Given the description of an element on the screen output the (x, y) to click on. 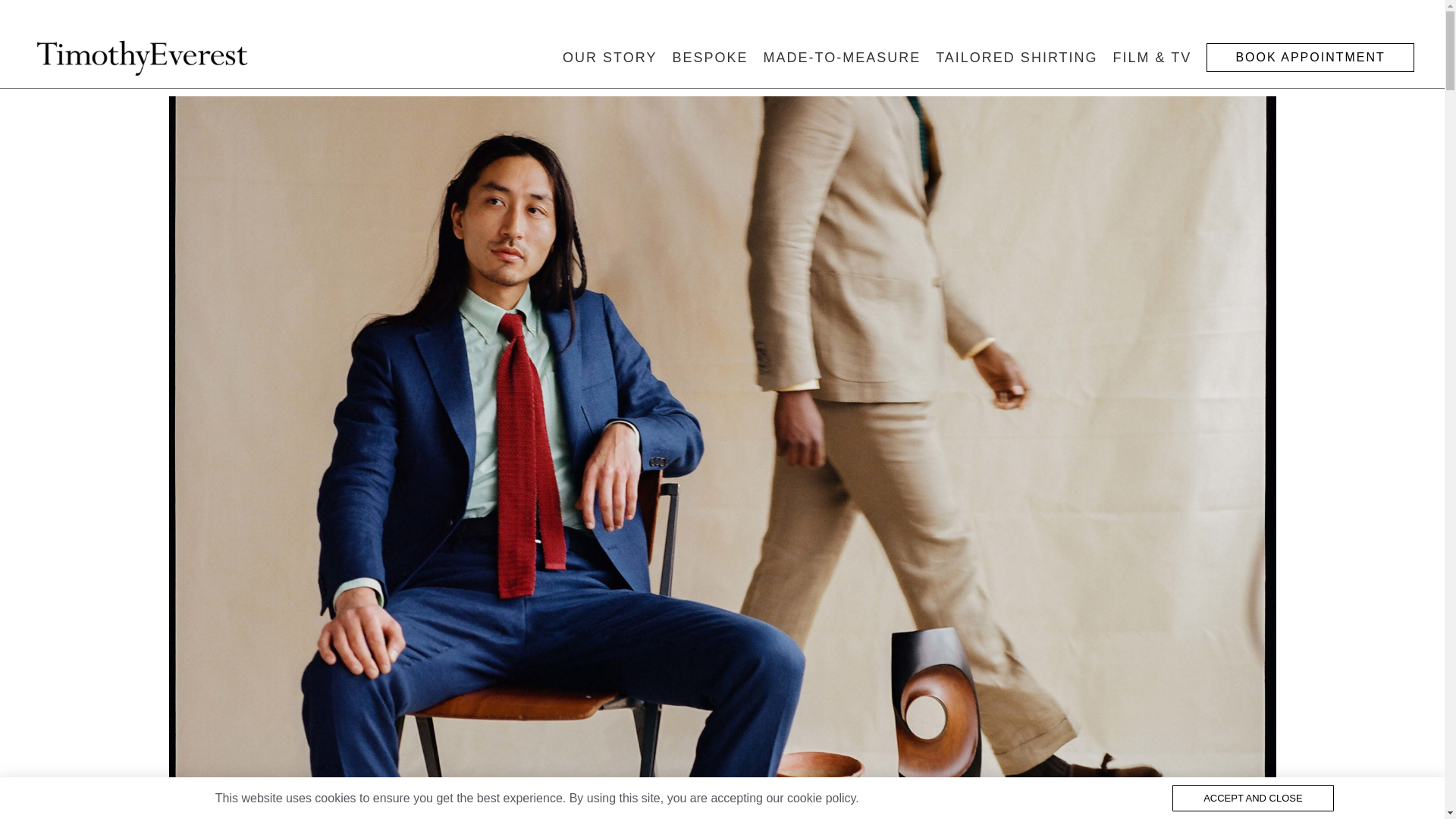
OUR STORY (609, 57)
MADE-TO-MEASURE (841, 57)
BESPOKE (709, 57)
TAILORED SHIRTING (1016, 57)
BOOK APPOINTMENT (1310, 57)
